Given the description of an element on the screen output the (x, y) to click on. 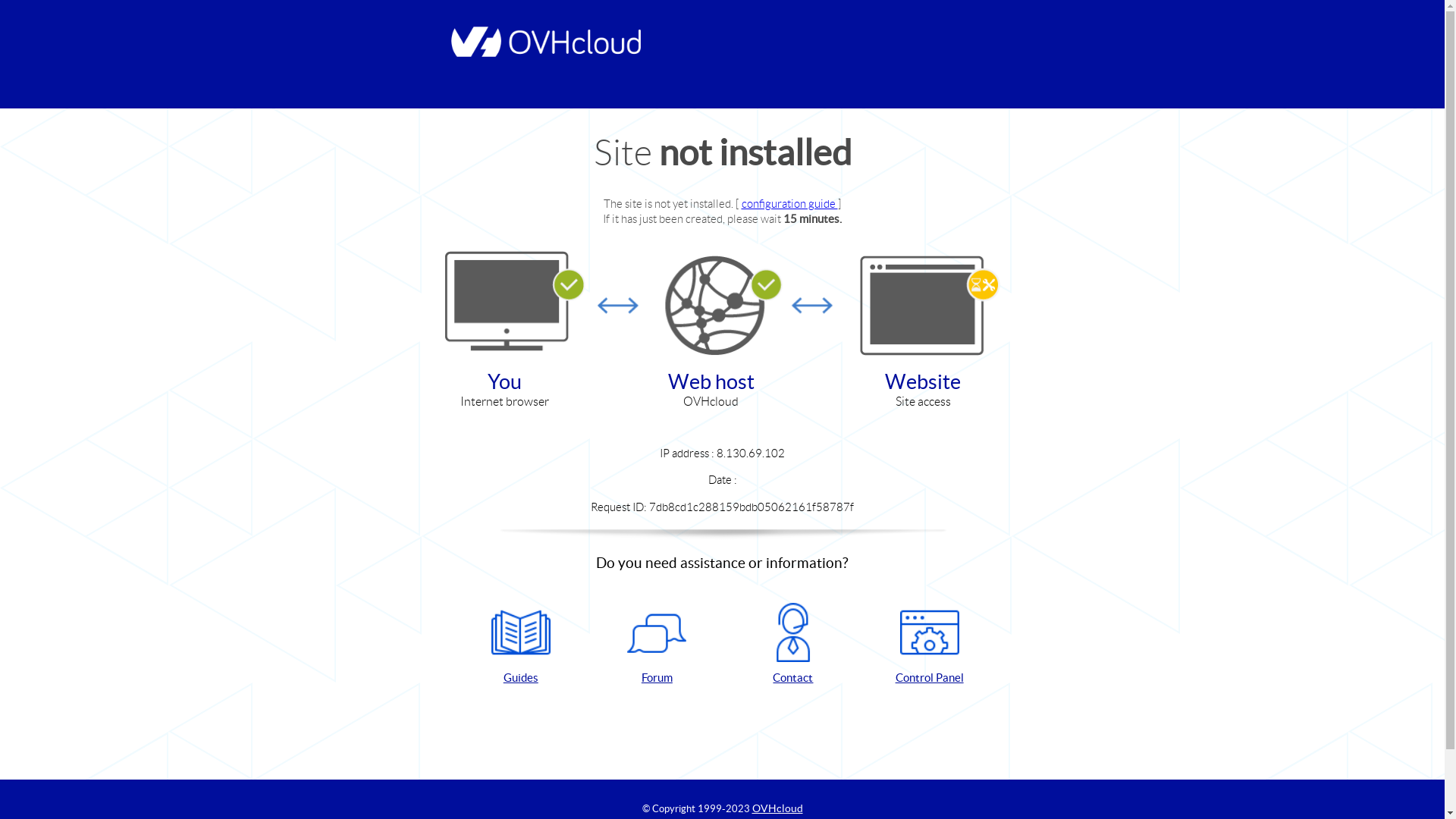
configuration guide Element type: text (789, 203)
Forum Element type: text (656, 644)
Contact Element type: text (792, 644)
OVHcloud Element type: text (777, 808)
Guides Element type: text (520, 644)
Control Panel Element type: text (929, 644)
